Given the description of an element on the screen output the (x, y) to click on. 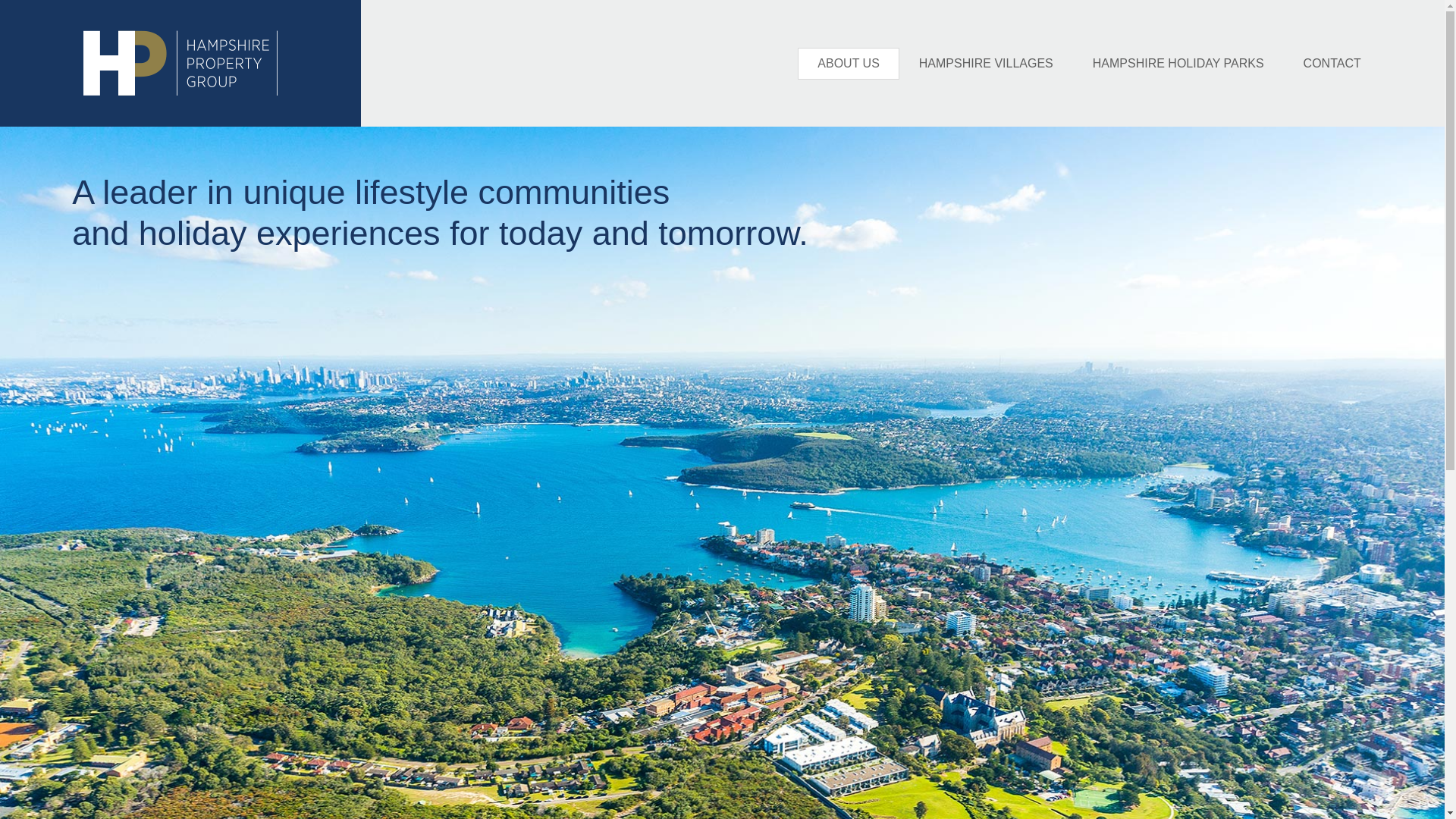
HAMPSHIRE VILLAGES Element type: text (986, 63)
HP LOGO Element type: hover (180, 63)
HAMPSHIRE HOLIDAY PARKS Element type: text (1178, 63)
CONTACT Element type: text (1332, 63)
ABOUT US Element type: text (848, 63)
